Given the description of an element on the screen output the (x, y) to click on. 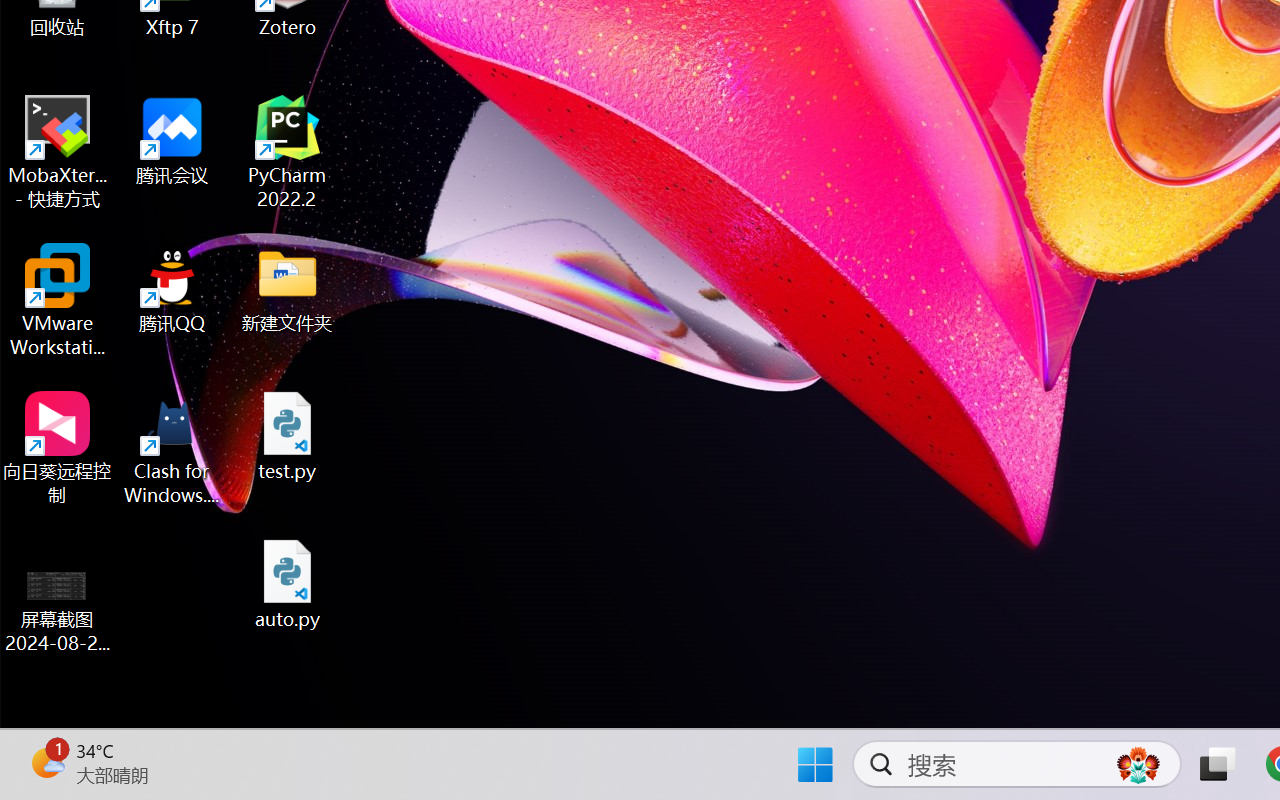
test.py (287, 436)
VMware Workstation Pro (57, 300)
PyCharm 2022.2 (287, 152)
